Given the description of an element on the screen output the (x, y) to click on. 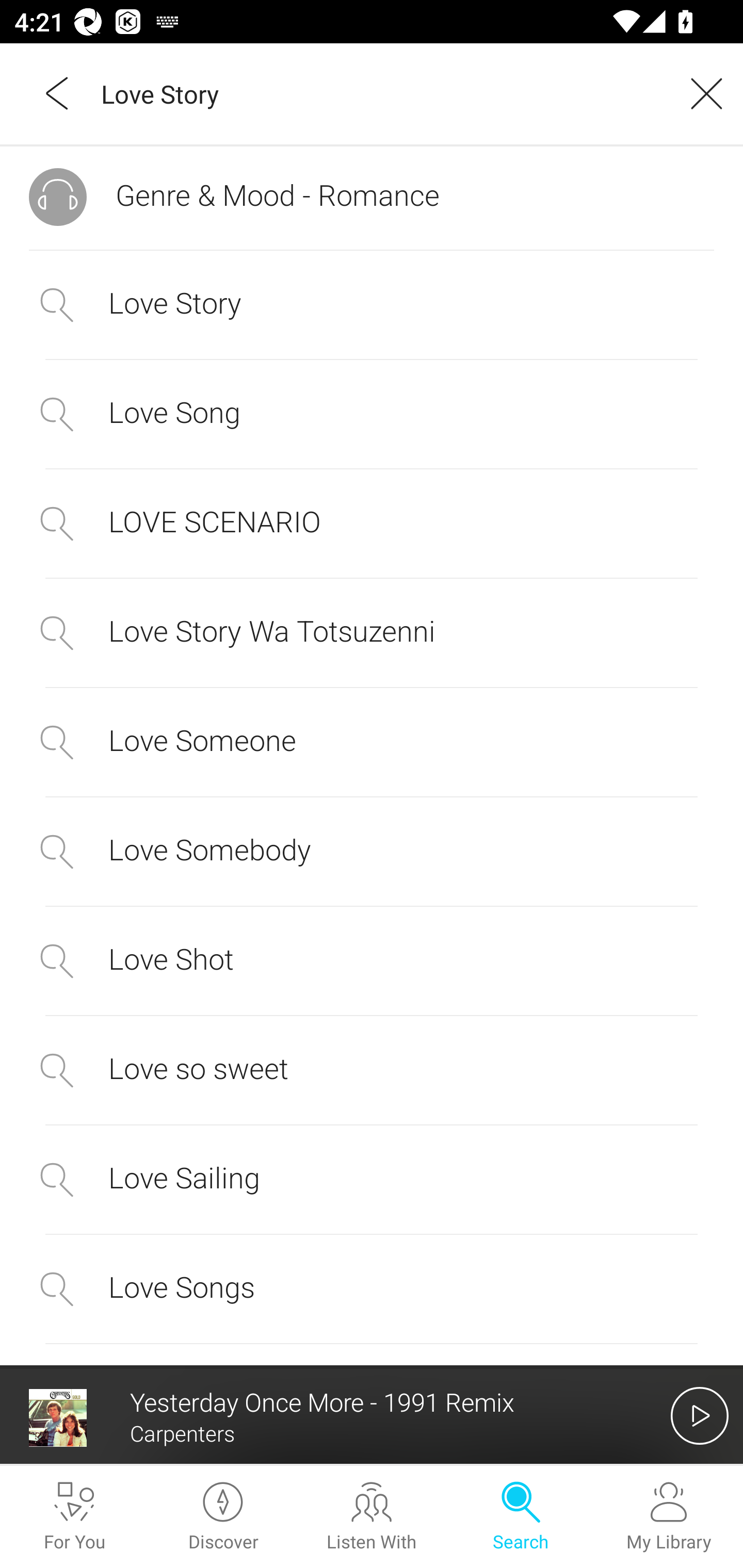
Love Story (378, 92)
Clear query (699, 92)
Back,outside of the list (57, 93)
Search preview item Genre & Mood - Romance (371, 196)
Love Story (371, 304)
Love Song (371, 414)
LOVE SCENARIO (371, 522)
Love Story Wa Totsuzenni (371, 632)
Love Someone (371, 742)
Love Somebody (371, 852)
Love Shot (371, 960)
Love so sweet (371, 1070)
Love Sailing (371, 1179)
Love Songs (371, 1289)
開始播放 (699, 1415)
For You (74, 1517)
Discover (222, 1517)
Listen With (371, 1517)
Search (519, 1517)
My Library (668, 1517)
